Given the description of an element on the screen output the (x, y) to click on. 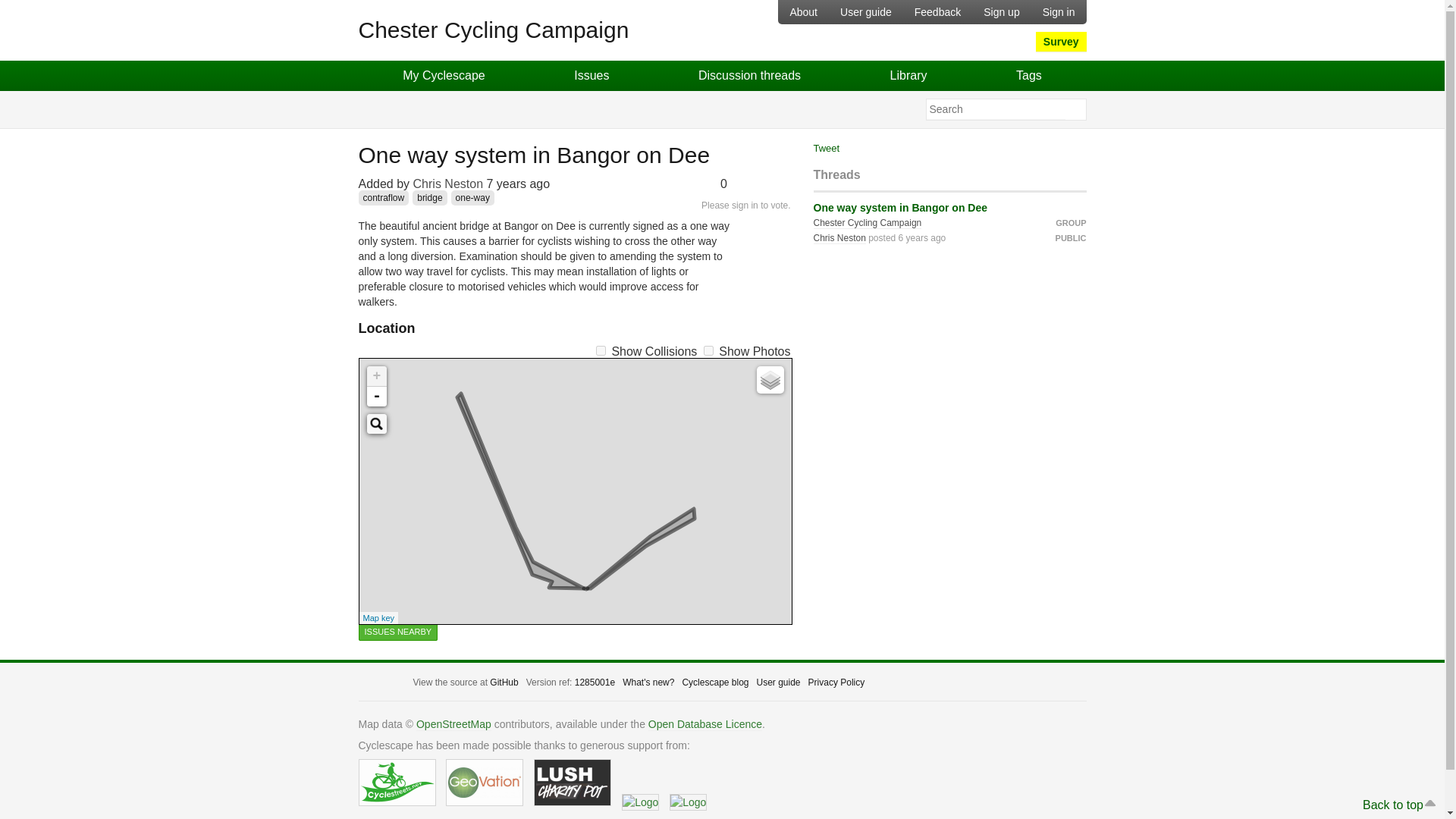
What's new? (648, 682)
My Cyclescape (443, 75)
ISSUES NEARBY (398, 631)
Sign up (1001, 11)
Search... (376, 424)
Funding from CycleStreets (396, 782)
GO (1074, 109)
Zoom out (376, 396)
1285001e (594, 682)
bridge (429, 197)
